Given the description of an element on the screen output the (x, y) to click on. 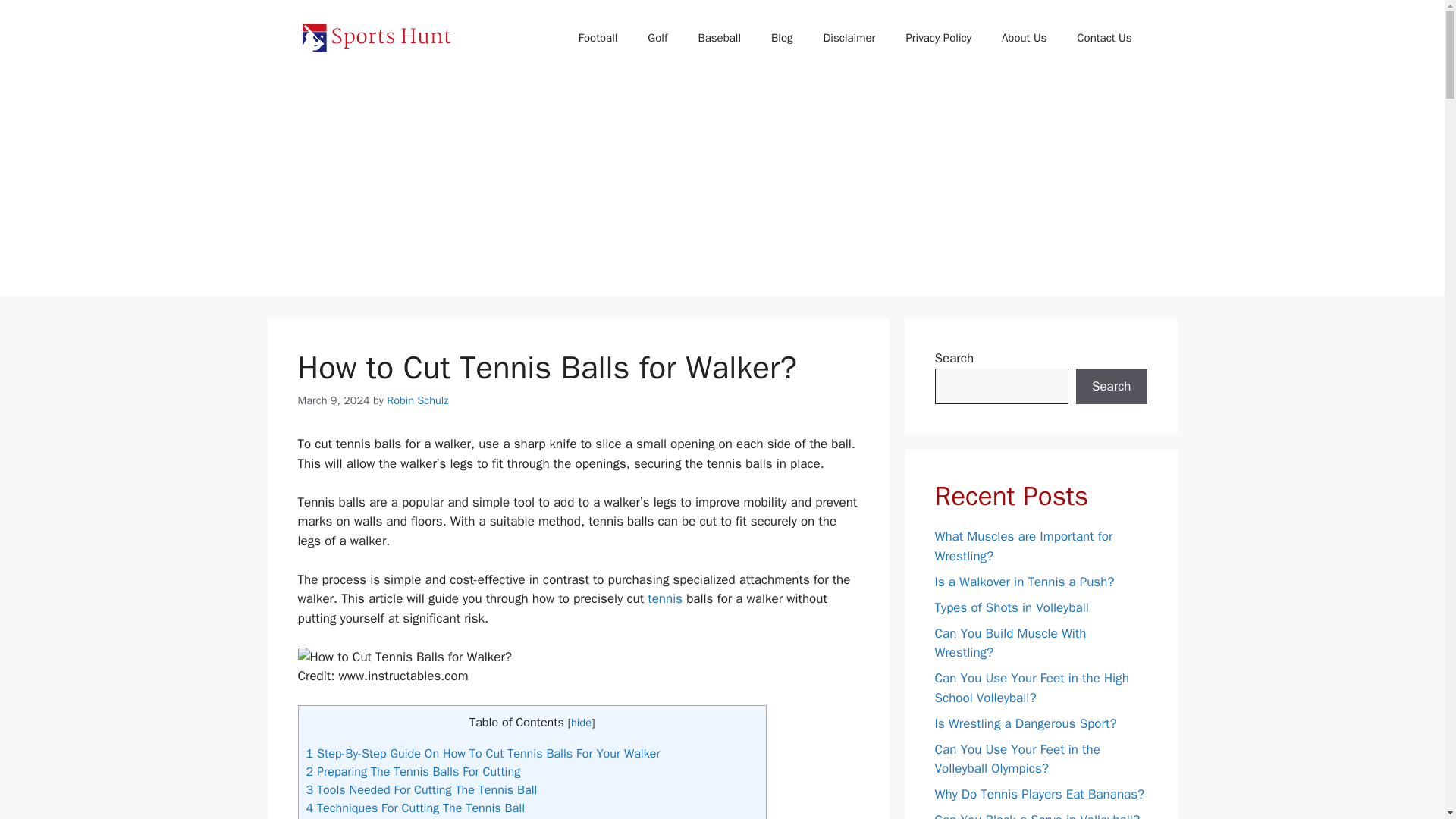
About Us (1024, 37)
Golf (656, 37)
Blog (781, 37)
Baseball (718, 37)
Disclaimer (848, 37)
Privacy Policy (938, 37)
Contact Us (1104, 37)
hide (580, 722)
2 Preparing The Tennis Balls For Cutting (413, 771)
